Given the description of an element on the screen output the (x, y) to click on. 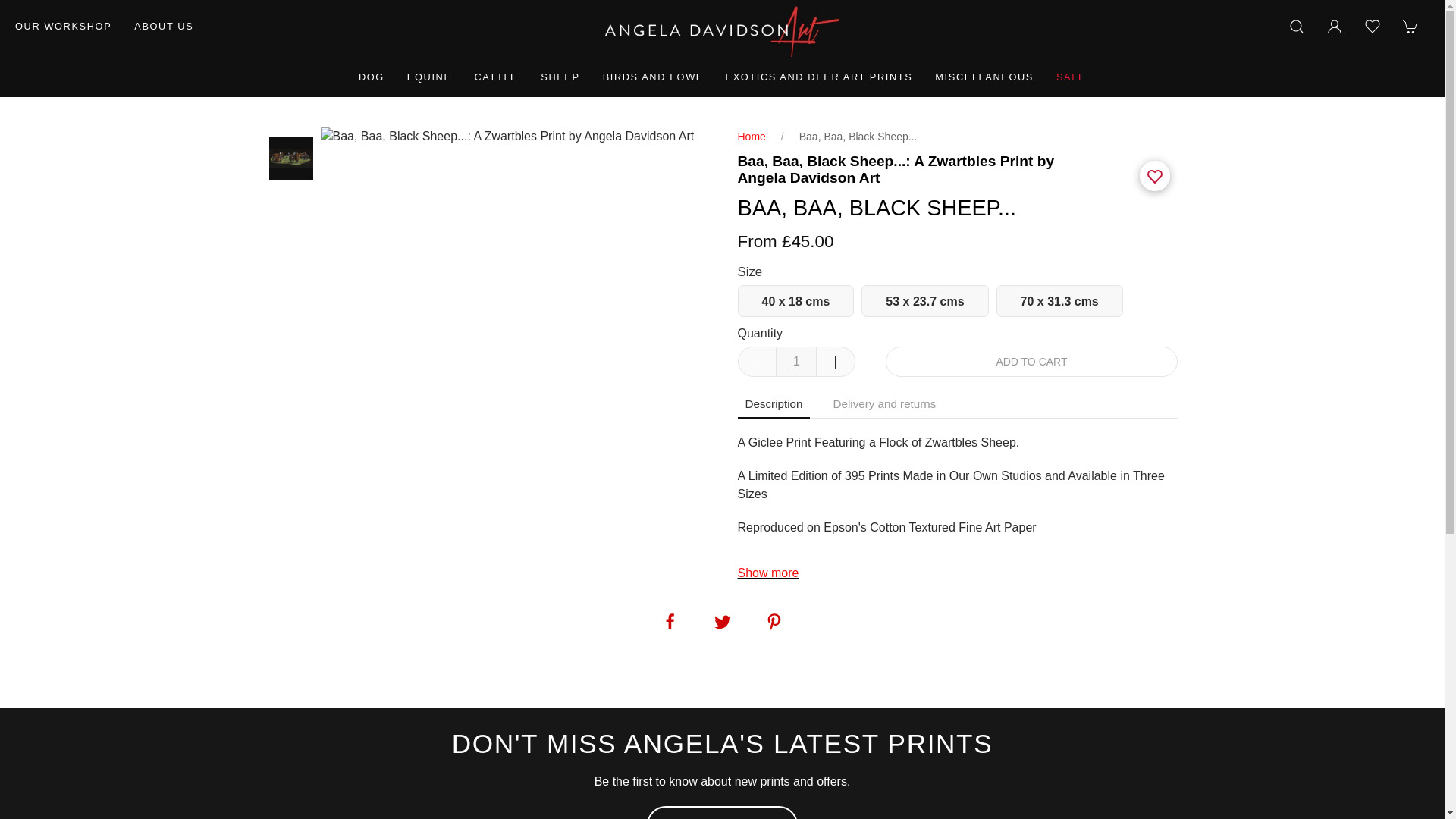
70 x 31.3 cms (1058, 300)
Angela Davidson Art (721, 31)
ADD TO CART (1030, 361)
EQUINE (429, 77)
Description (772, 405)
40 x 18 cms (794, 300)
SALE (1071, 77)
Visit Angela Davidson Art (63, 26)
Show more (766, 572)
BIRDS AND FOWL (652, 77)
OUR WORKSHOP (63, 26)
53 x 23.7 cms (924, 300)
CATTLE (496, 77)
